Given the description of an element on the screen output the (x, y) to click on. 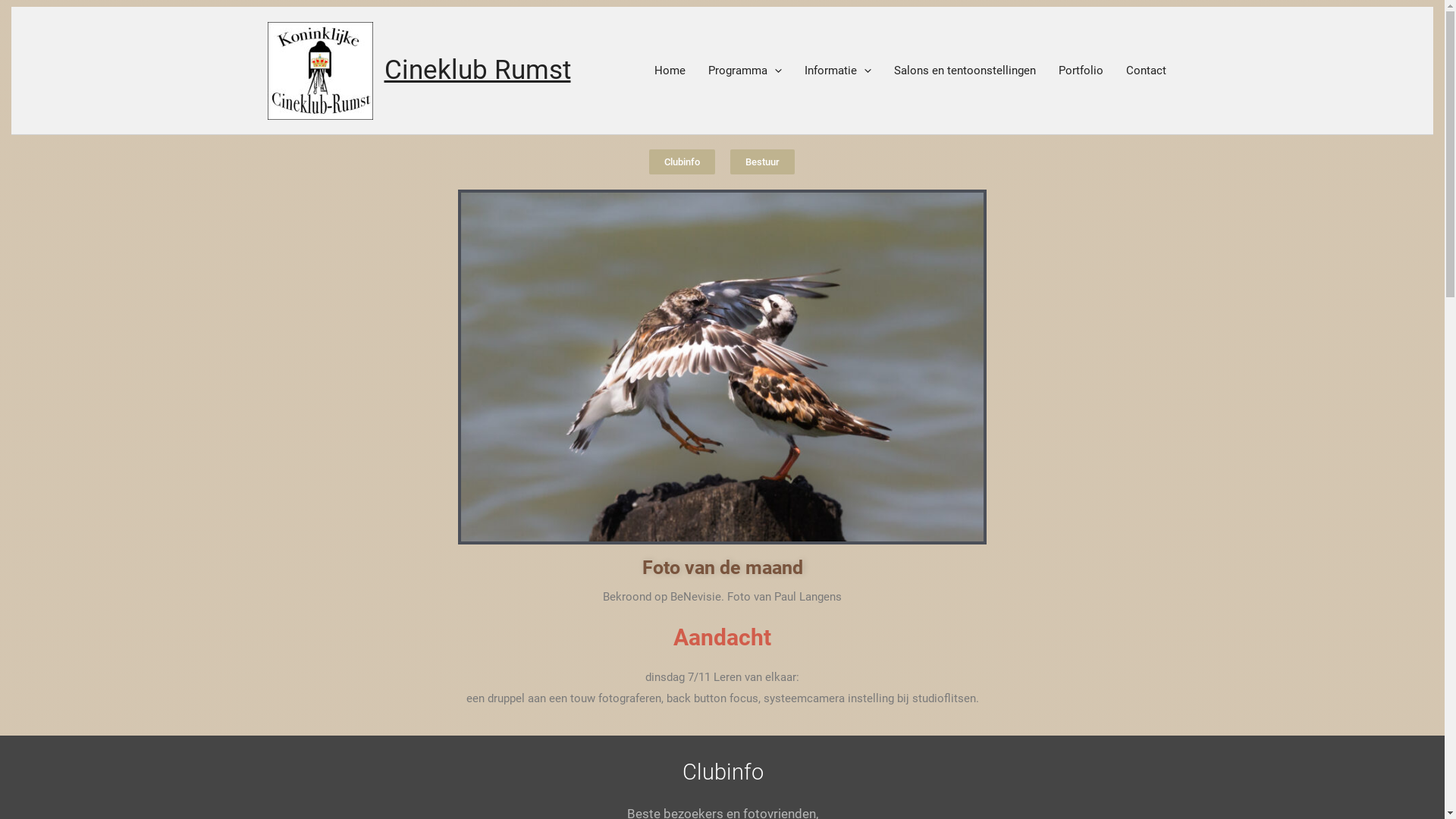
Contact Element type: text (1145, 70)
Portfolio Element type: text (1079, 70)
Clubinfo Element type: text (682, 161)
Informatie Element type: text (837, 70)
Programma Element type: text (744, 70)
Salons en tentoonstellingen Element type: text (964, 70)
Bestuur Element type: text (761, 161)
Cineklub Rumst Element type: text (476, 69)
Home Element type: text (669, 70)
